Given the description of an element on the screen output the (x, y) to click on. 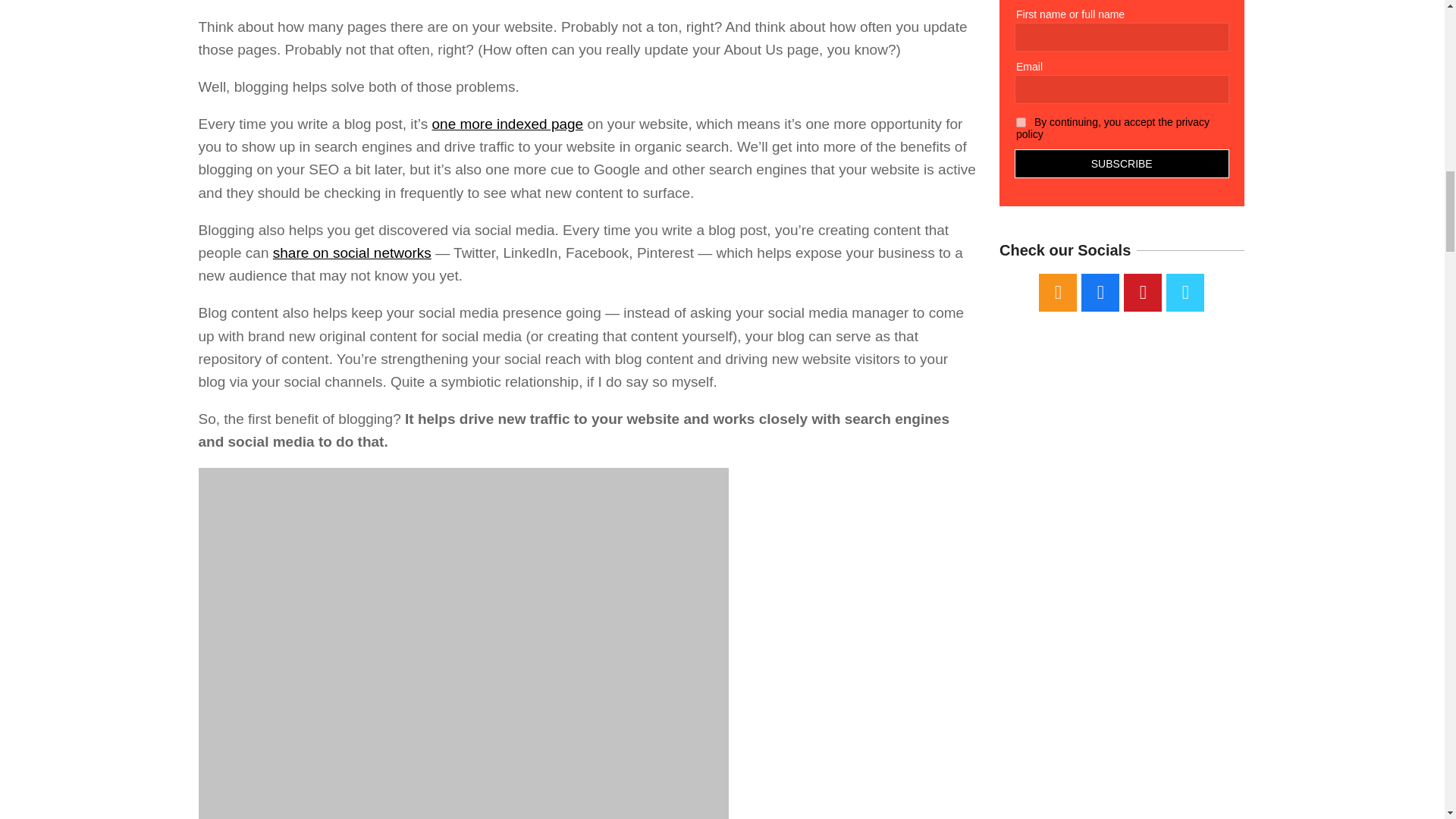
on (1021, 122)
Subscribe (1121, 163)
